Given the description of an element on the screen output the (x, y) to click on. 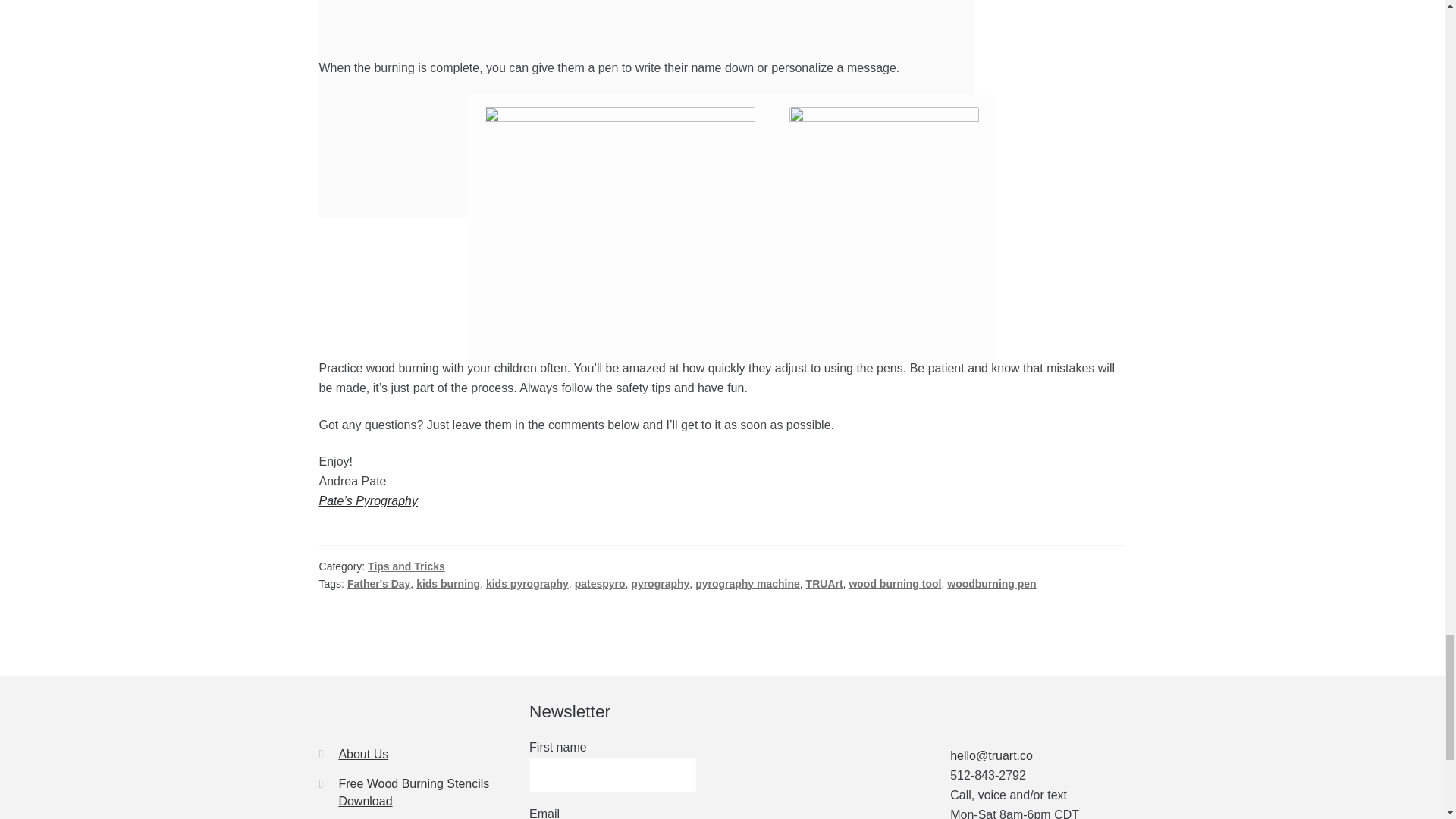
Father's Day (378, 583)
wood burning tool (894, 583)
kids pyrography (527, 583)
kids burning (448, 583)
pyrography (659, 583)
pyrography machine (747, 583)
patespyro (600, 583)
Tips and Tricks (406, 566)
woodburning pen (991, 583)
TRUArt (824, 583)
